Given the description of an element on the screen output the (x, y) to click on. 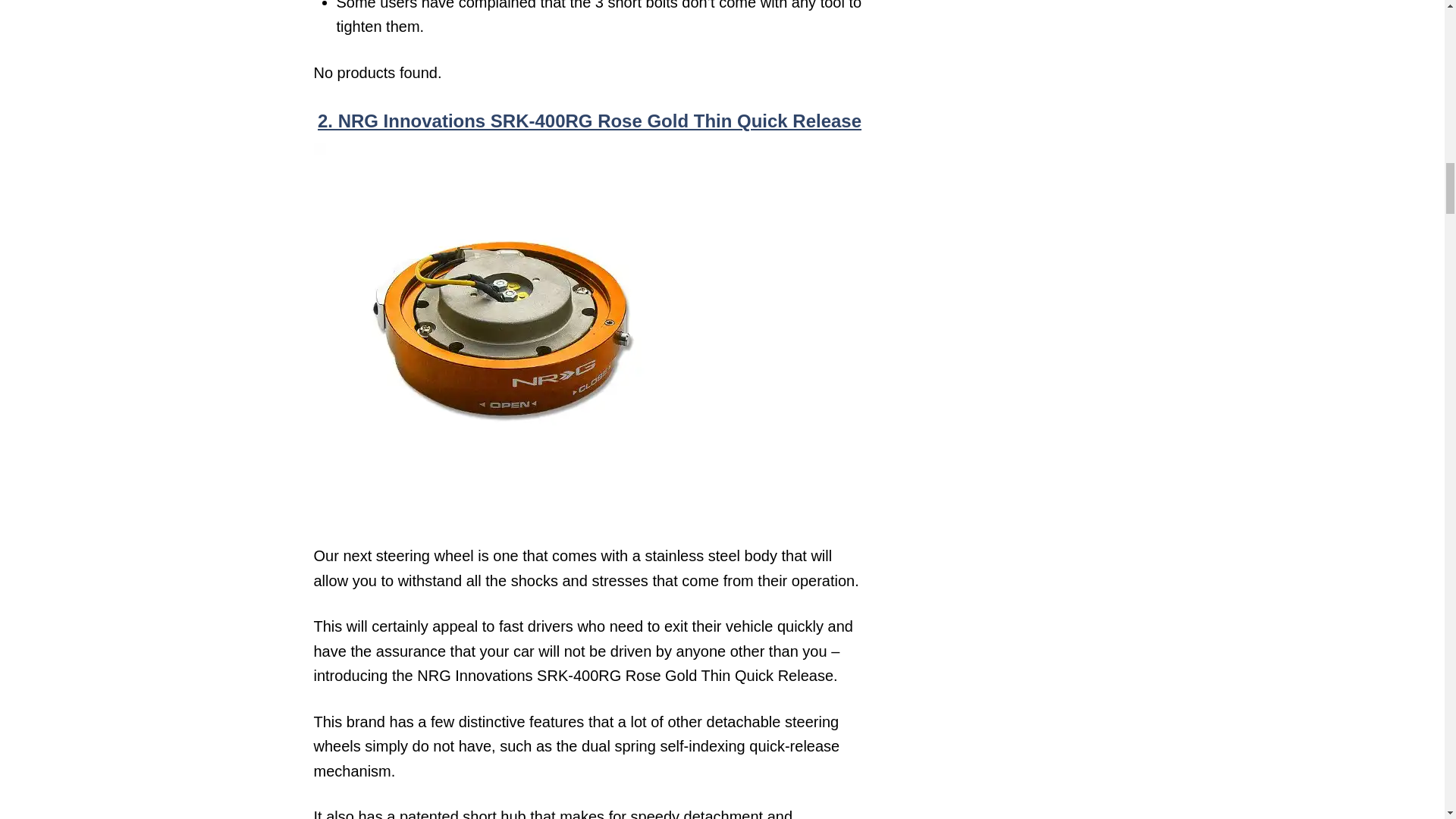
2. NRG Innovations SRK-400RG Rose Gold Thin Quick Release (589, 120)
